Given the description of an element on the screen output the (x, y) to click on. 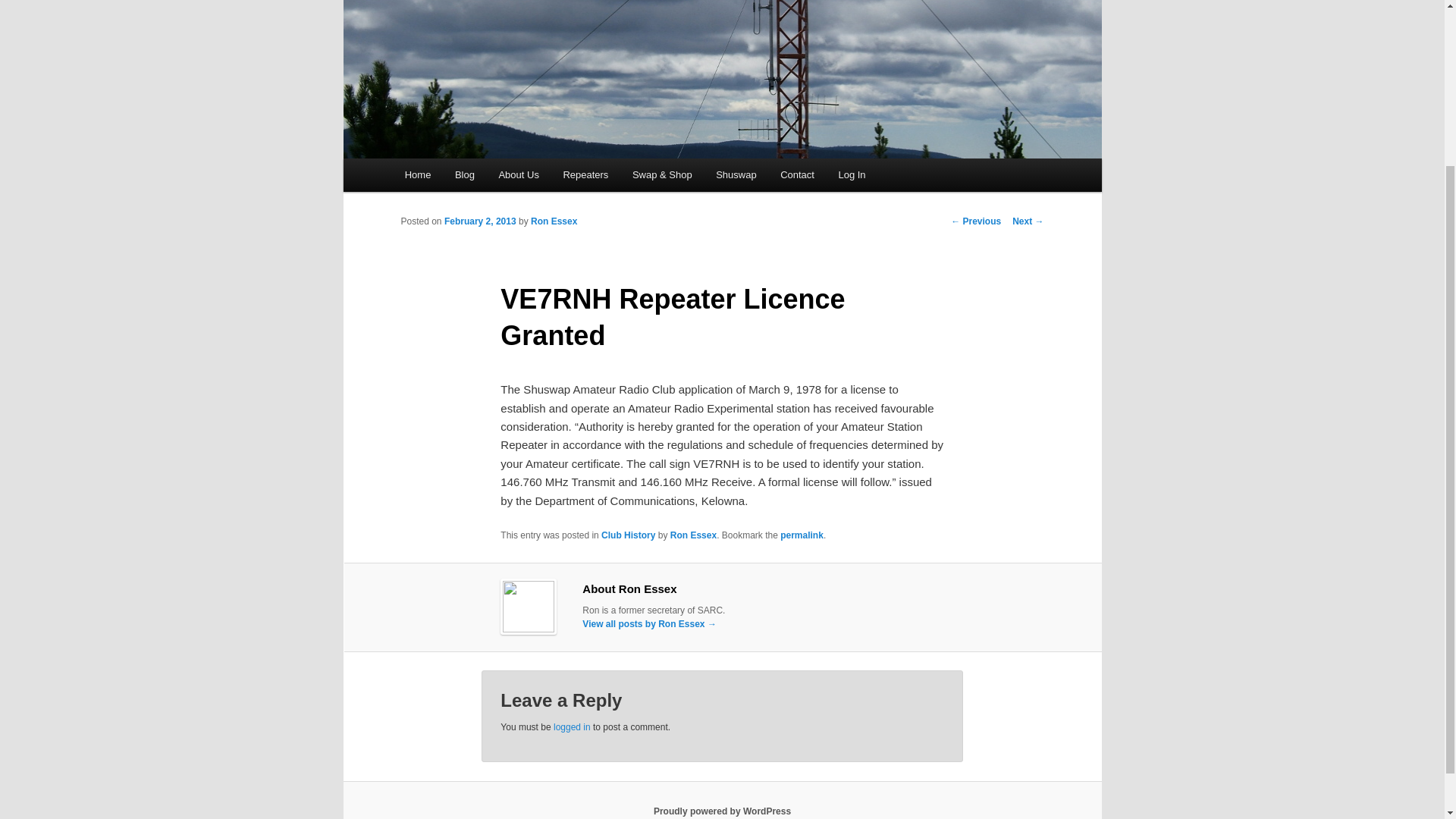
Contact (796, 174)
About Us (518, 174)
Shuswap (735, 174)
Repeaters (585, 174)
Home (417, 174)
Blog (464, 174)
Log In (852, 174)
Semantic Personal Publishing Platform (721, 810)
View all posts by Ron Essex (553, 221)
